Given the description of an element on the screen output the (x, y) to click on. 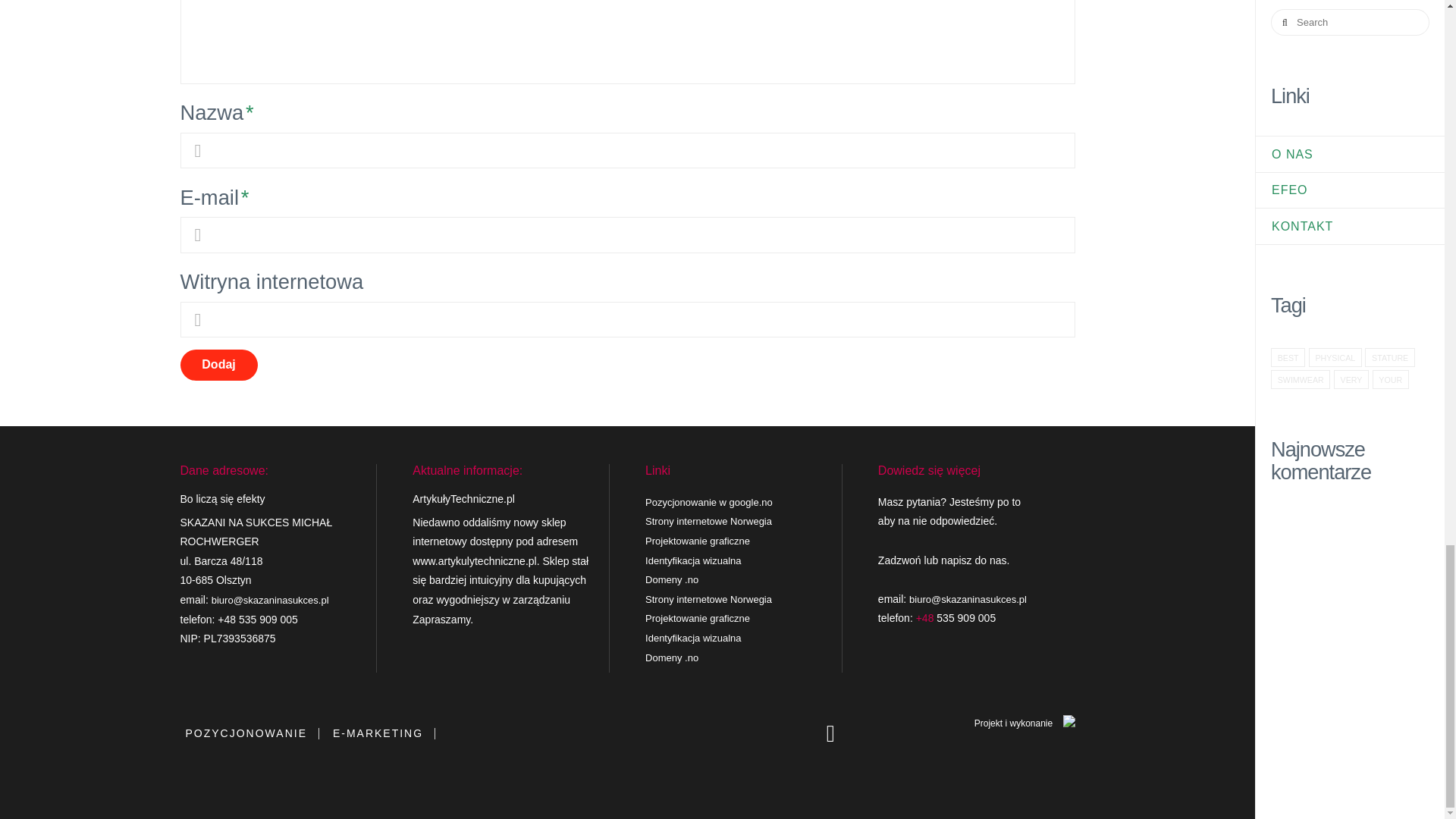
Strony internetowe Norwegia (708, 521)
Domeny .no (671, 579)
Projektowanie graficzne (697, 618)
Identyfikacja wizualna (693, 637)
Dodaj (218, 365)
Dodaj (218, 365)
Projektowanie graficzne (697, 541)
Strony internetowe Norwegia (708, 599)
Identyfikacja wizualna (693, 560)
Pozycjonowanie w google.no (709, 501)
Domeny .no (671, 657)
